Given the description of an element on the screen output the (x, y) to click on. 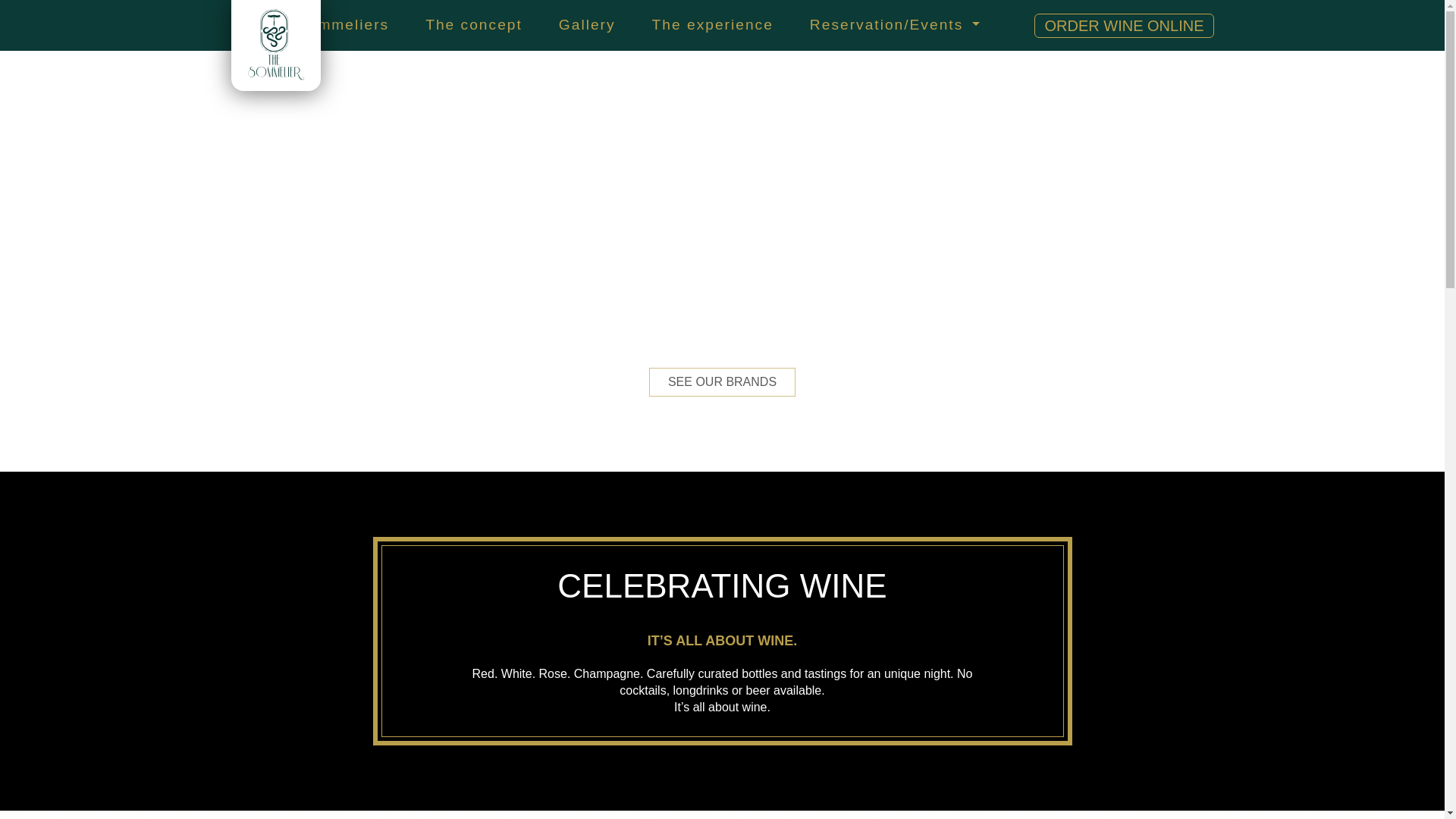
The experience (712, 25)
ORDER WINE ONLINE (1122, 25)
Gallery (586, 25)
The Sommeliers (325, 25)
SEE OUR BRANDS (721, 381)
The concept (473, 25)
